Given the description of an element on the screen output the (x, y) to click on. 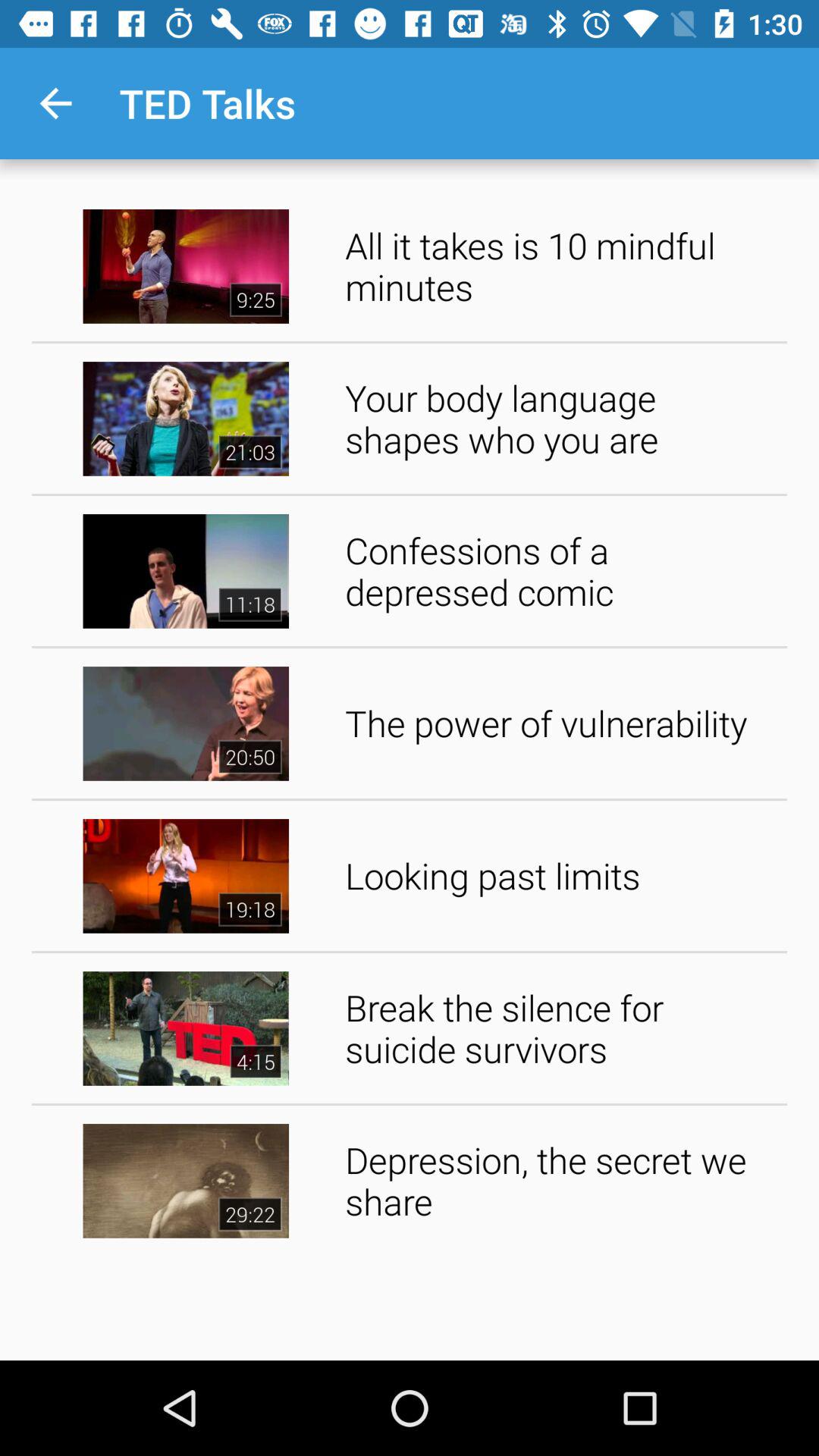
choose the icon next to ted talks item (55, 103)
